Given the description of an element on the screen output the (x, y) to click on. 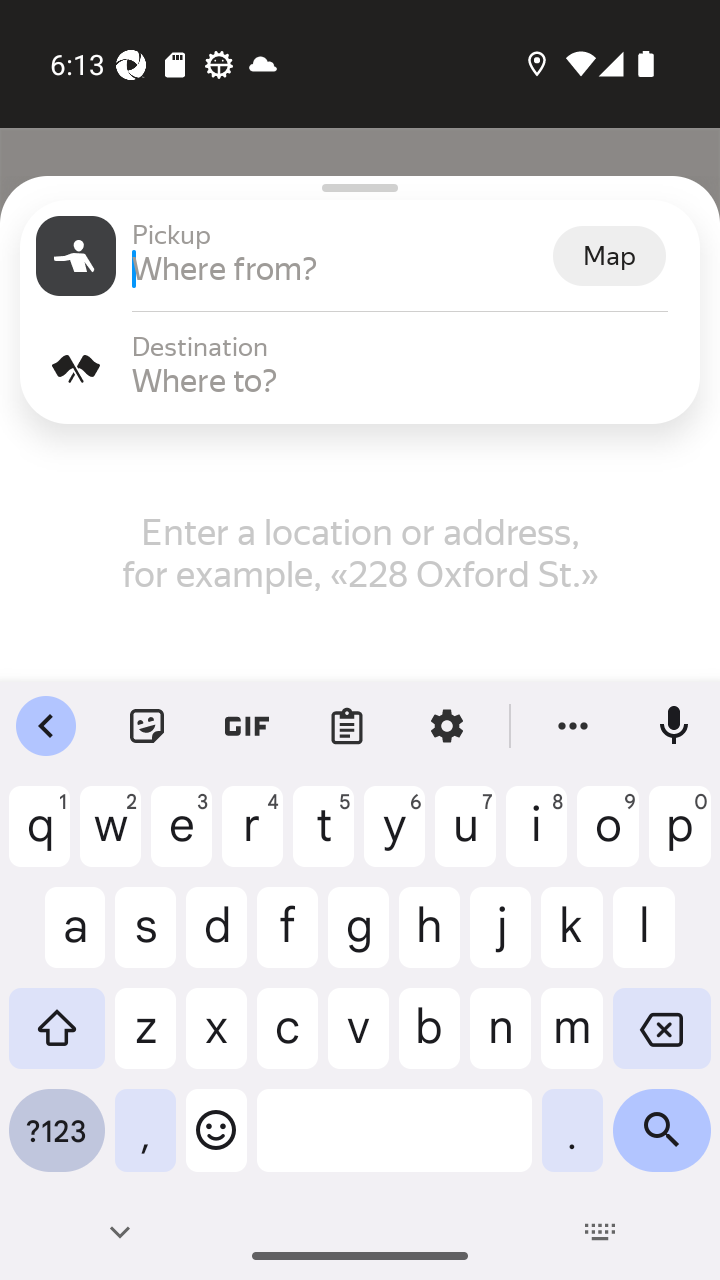
Pickup Pickup Where from? Map (359, 255)
Map (609, 256)
Where from? (340, 268)
Destination Destination Where to? (359, 367)
Where to? (407, 380)
